Given the description of an element on the screen output the (x, y) to click on. 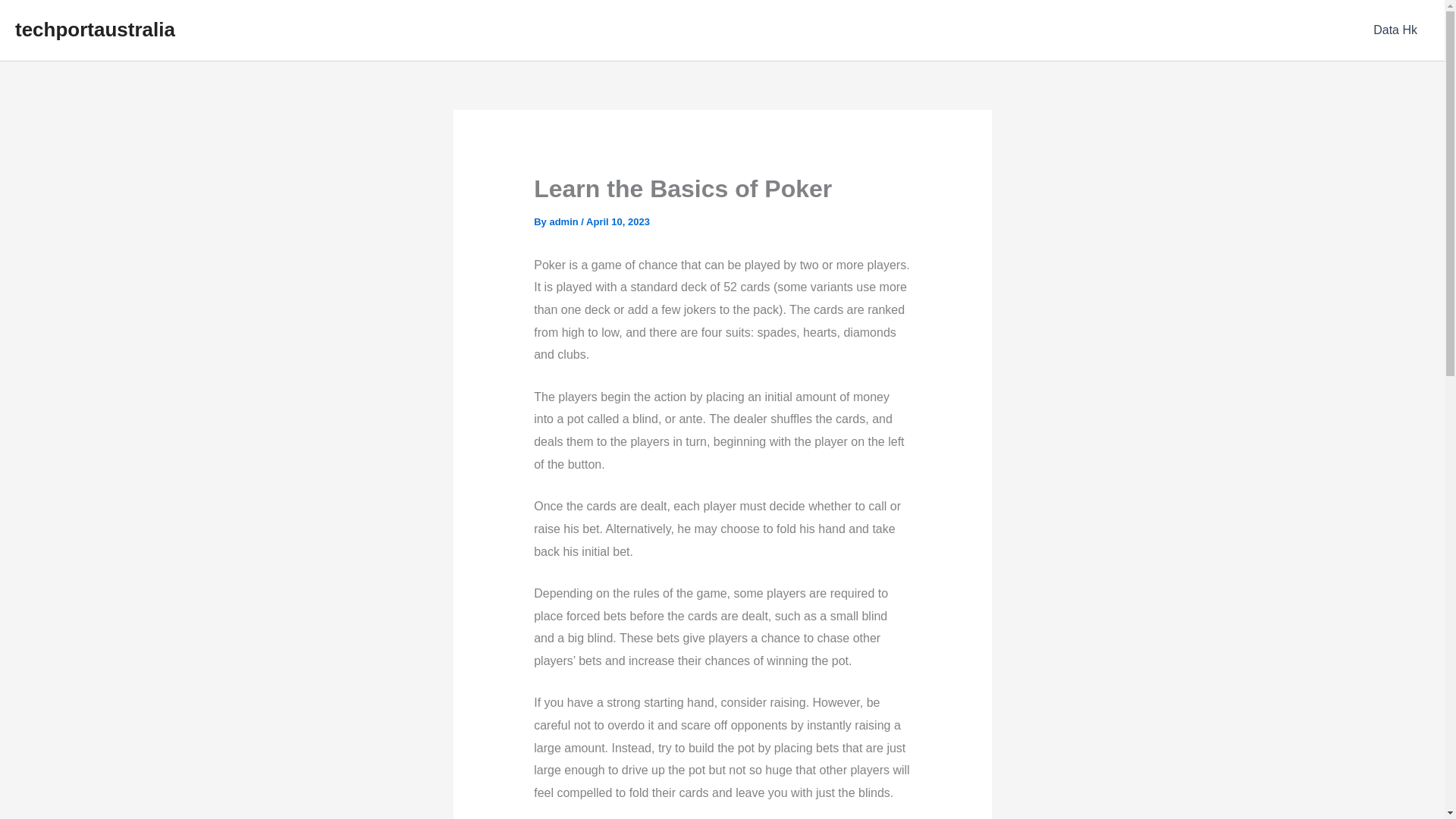
View all posts by admin (564, 221)
admin (564, 221)
techportaustralia (94, 29)
Data Hk (1395, 30)
